Given the description of an element on the screen output the (x, y) to click on. 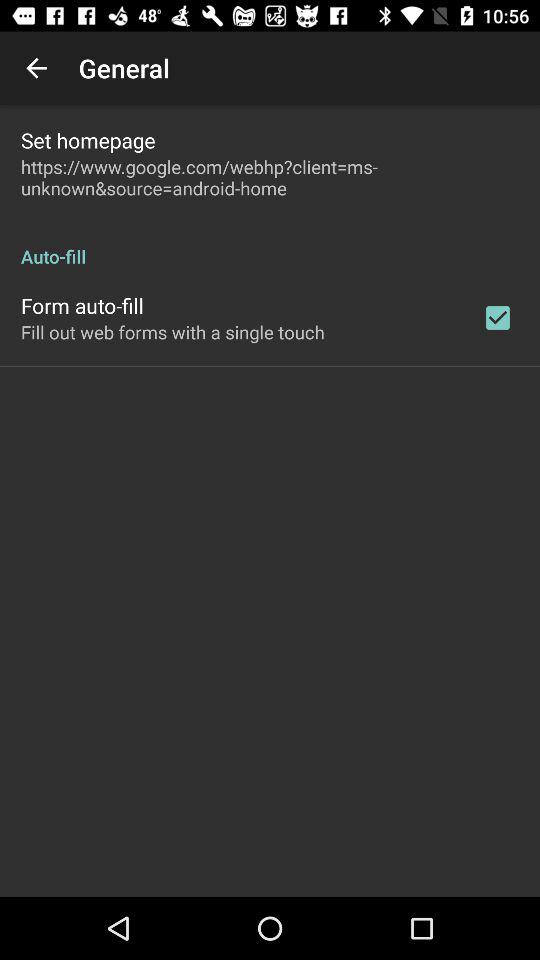
jump until the fill out web item (172, 331)
